Given the description of an element on the screen output the (x, y) to click on. 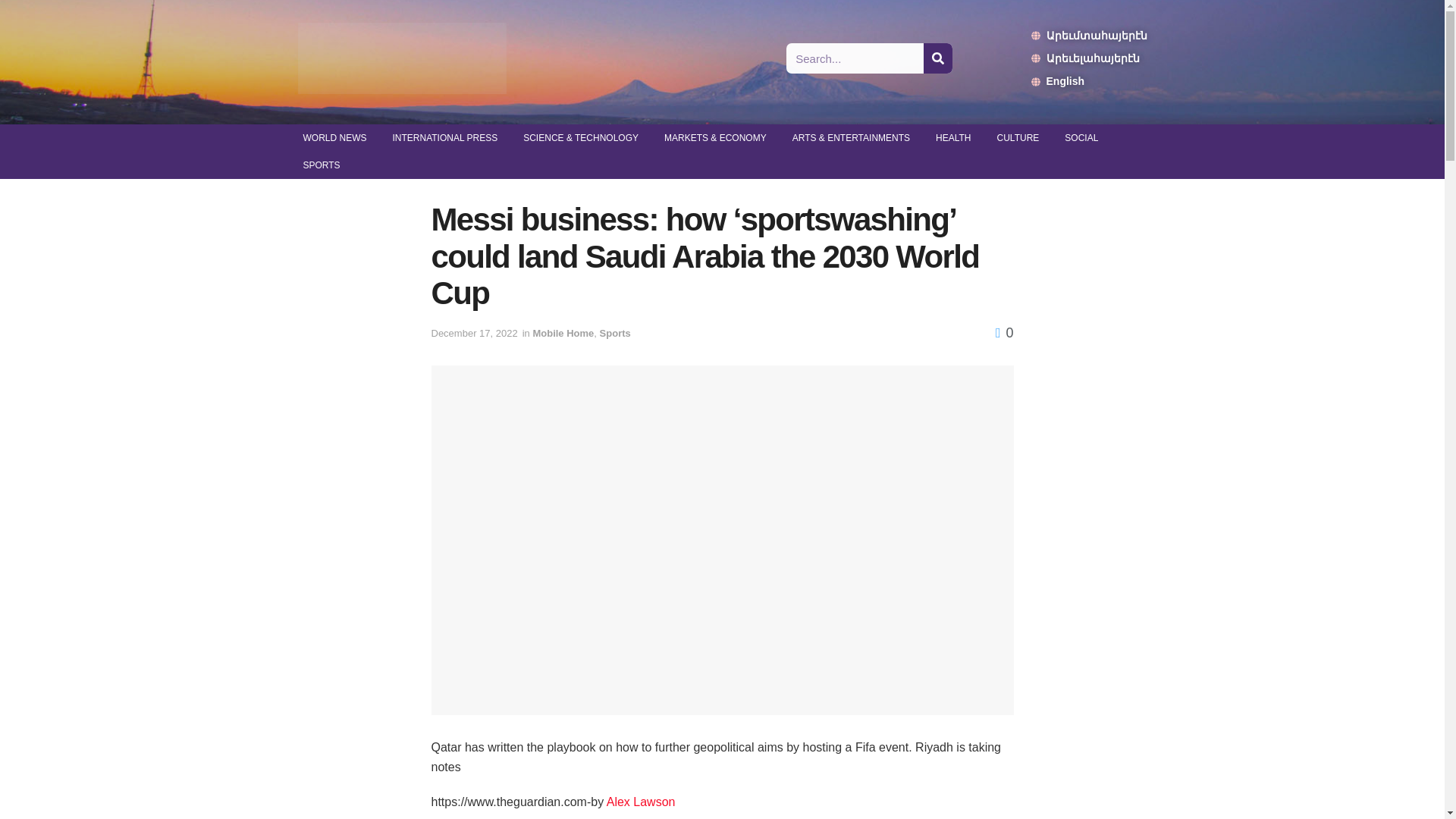
0 (1004, 332)
CULTURE (1018, 137)
SOCIAL (1080, 137)
WORLD NEWS (333, 137)
HEALTH (953, 137)
INTERNATIONAL PRESS (444, 137)
December 17, 2022 (473, 333)
Sports (614, 333)
Mobile Home (563, 333)
English (1088, 80)
